Given the description of an element on the screen output the (x, y) to click on. 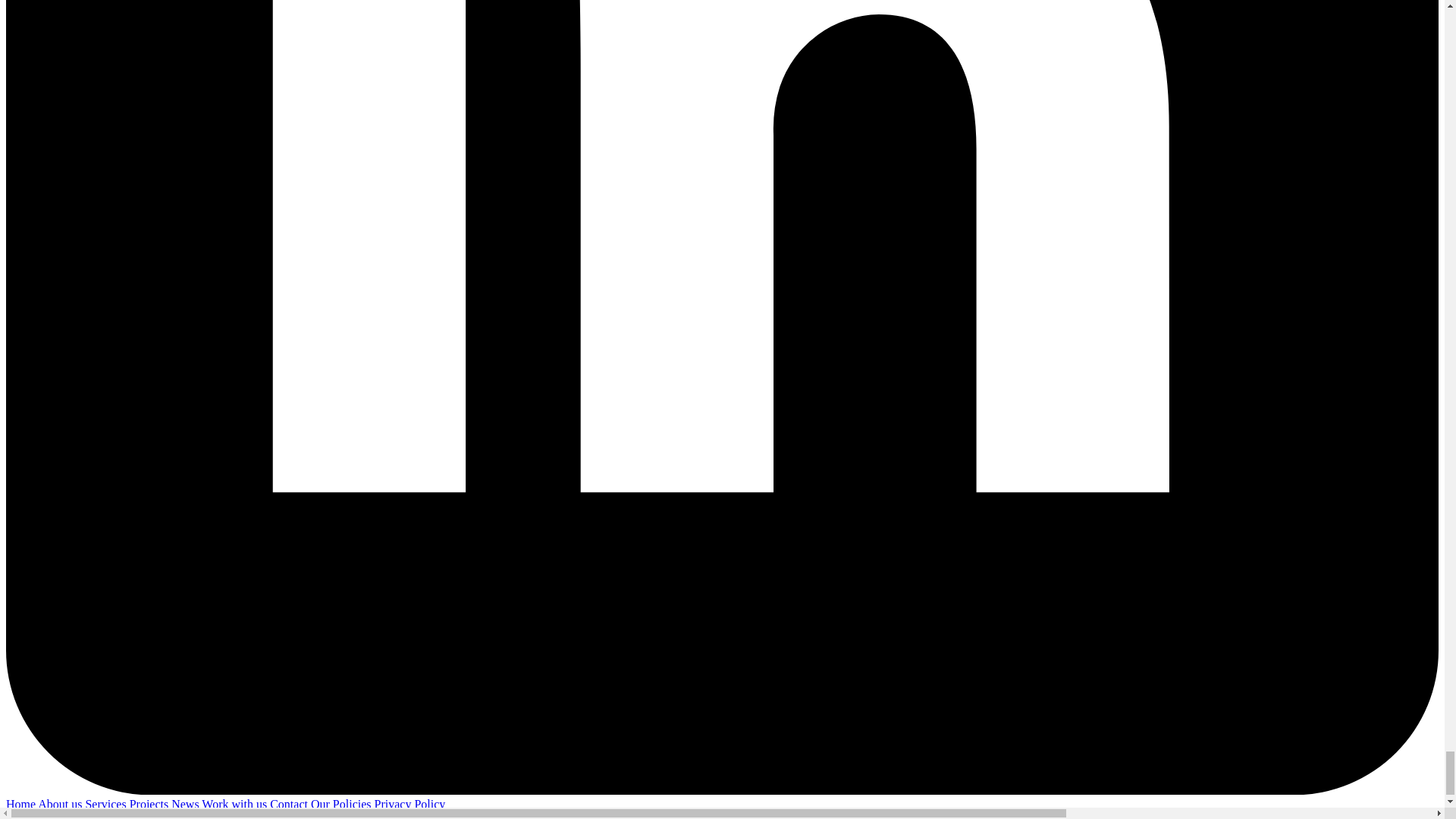
News (186, 803)
Projects (150, 803)
Contact (290, 803)
Services (106, 803)
About us (60, 803)
Home (21, 803)
Work with us (235, 803)
Our Policies (342, 803)
Privacy Policy (409, 803)
